Given the description of an element on the screen output the (x, y) to click on. 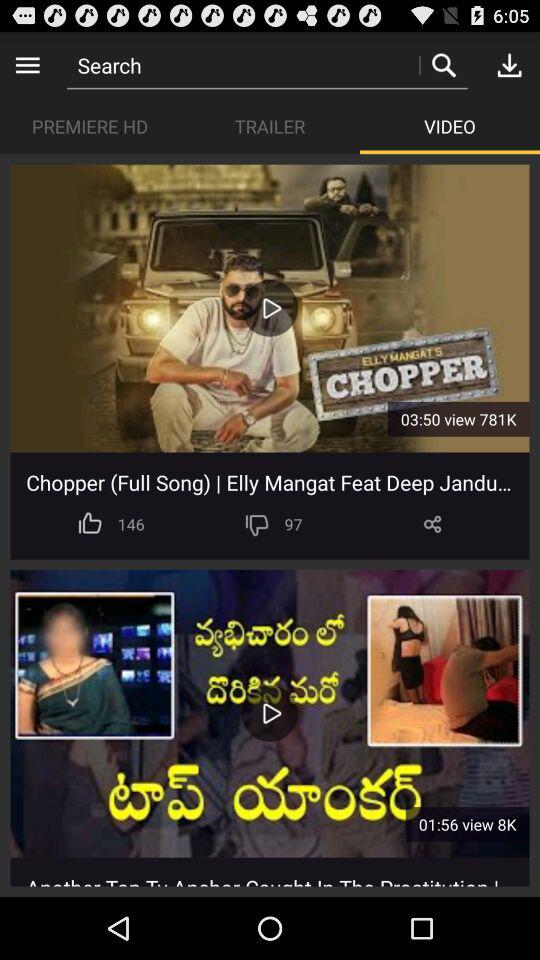
choose icon below the chopper full song (432, 523)
